Given the description of an element on the screen output the (x, y) to click on. 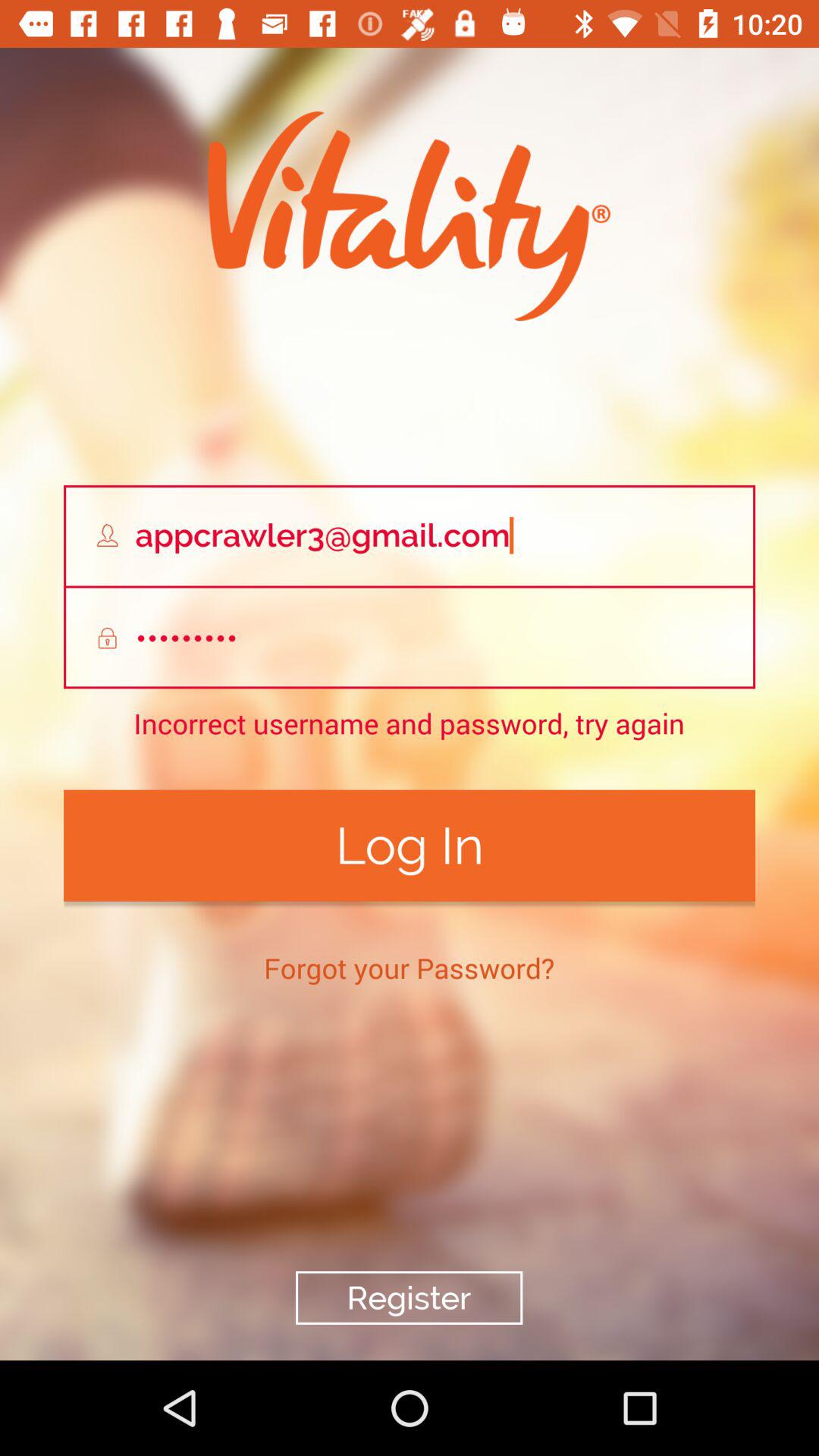
tap item above the register (408, 967)
